Given the description of an element on the screen output the (x, y) to click on. 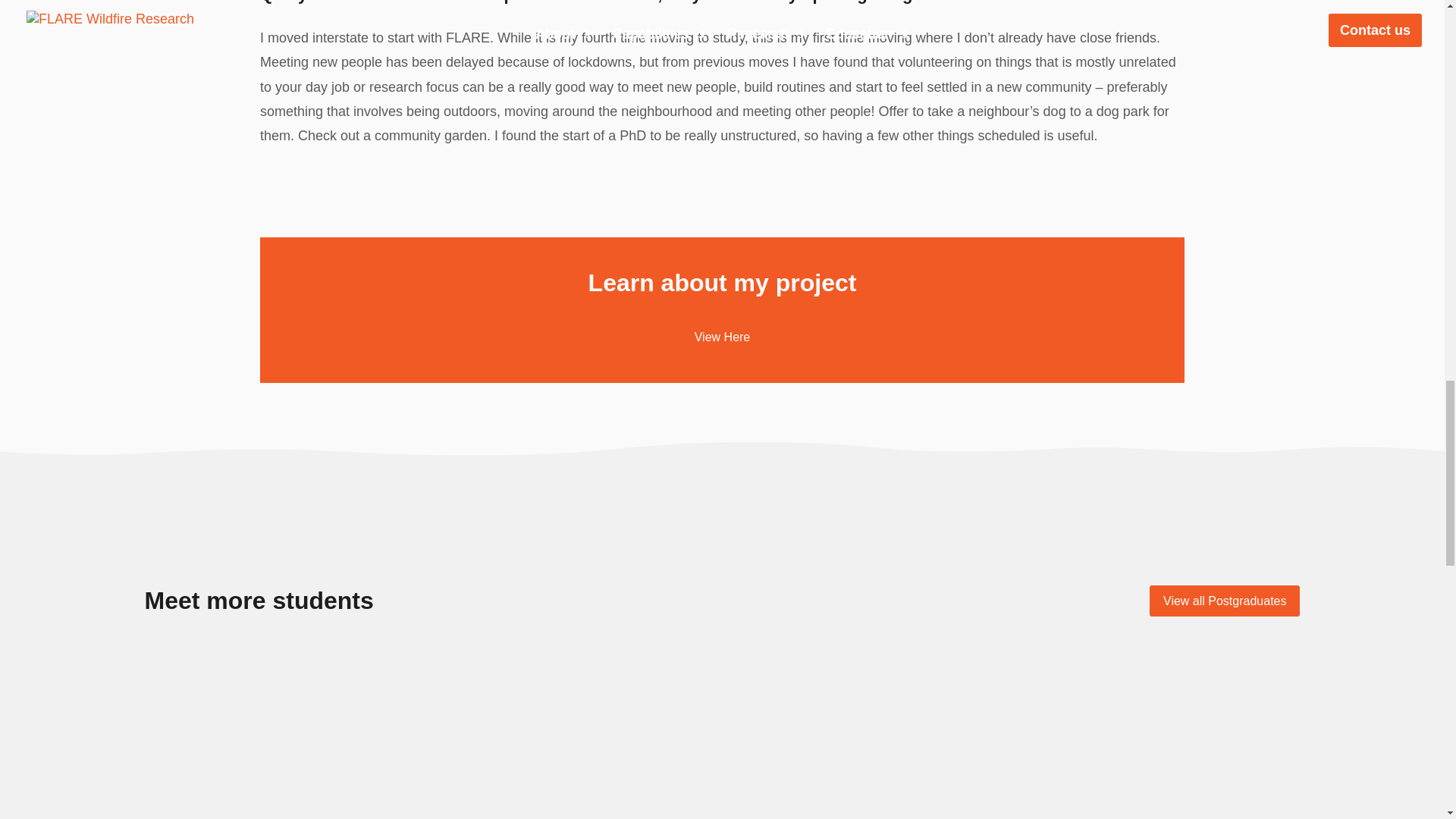
View all Postgraduates (1225, 600)
View Here (722, 336)
